Given the description of an element on the screen output the (x, y) to click on. 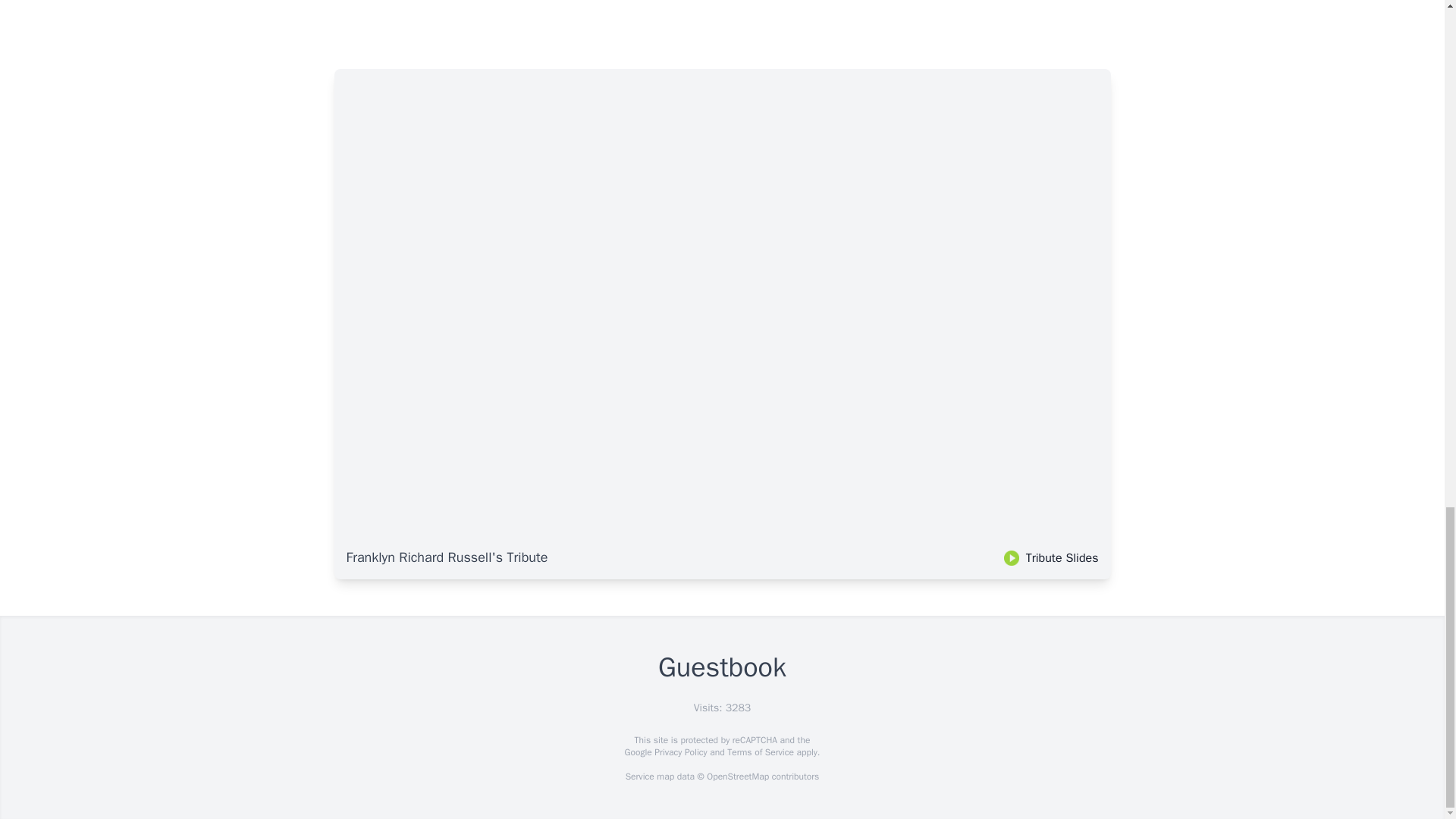
OpenStreetMap (737, 776)
Terms of Service (759, 752)
Privacy Policy (679, 752)
